Given the description of an element on the screen output the (x, y) to click on. 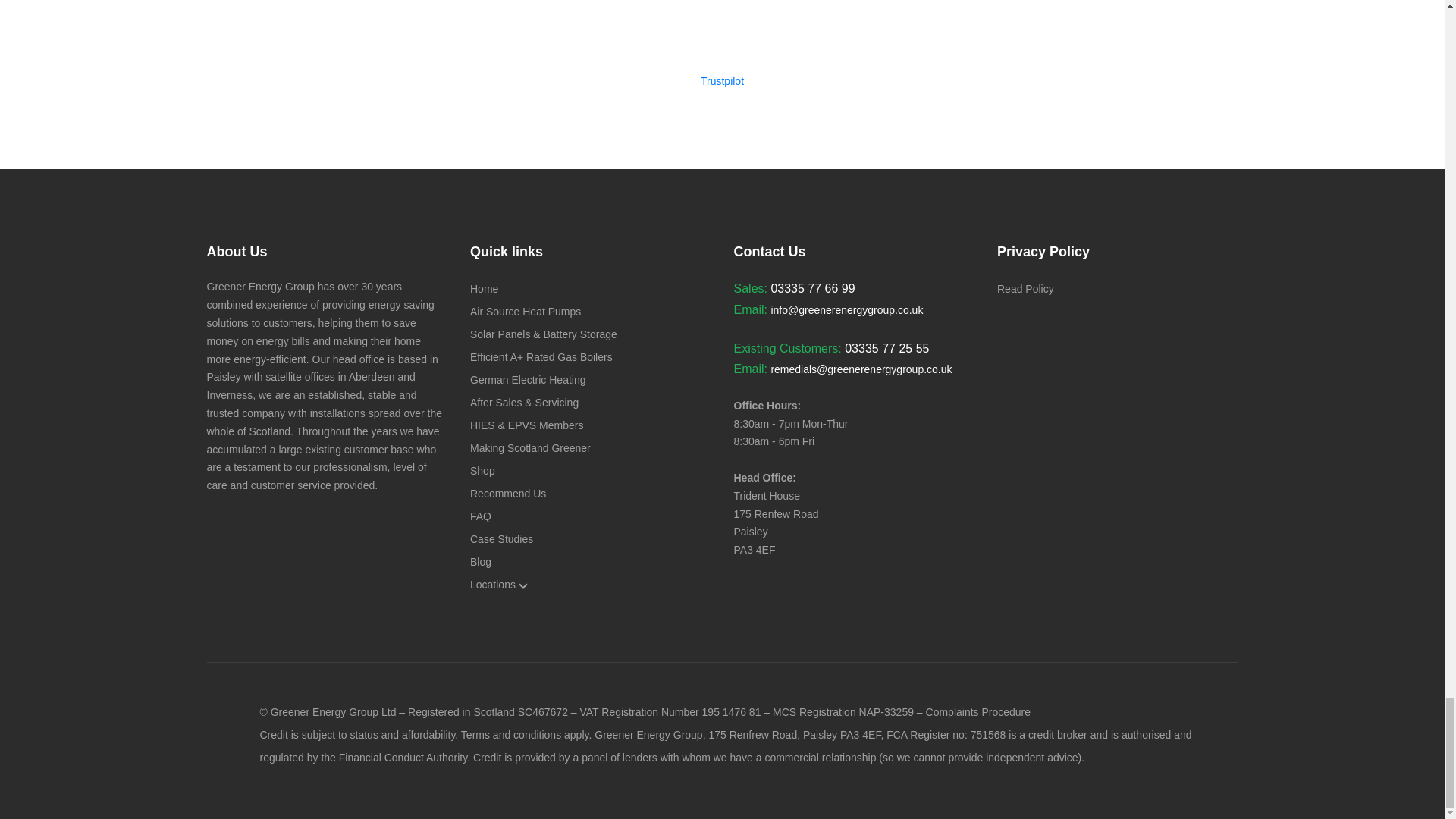
Home (483, 288)
Air Source Heat Pumps (525, 311)
Trustpilot (722, 80)
German Electric Heating (528, 379)
